Given the description of an element on the screen output the (x, y) to click on. 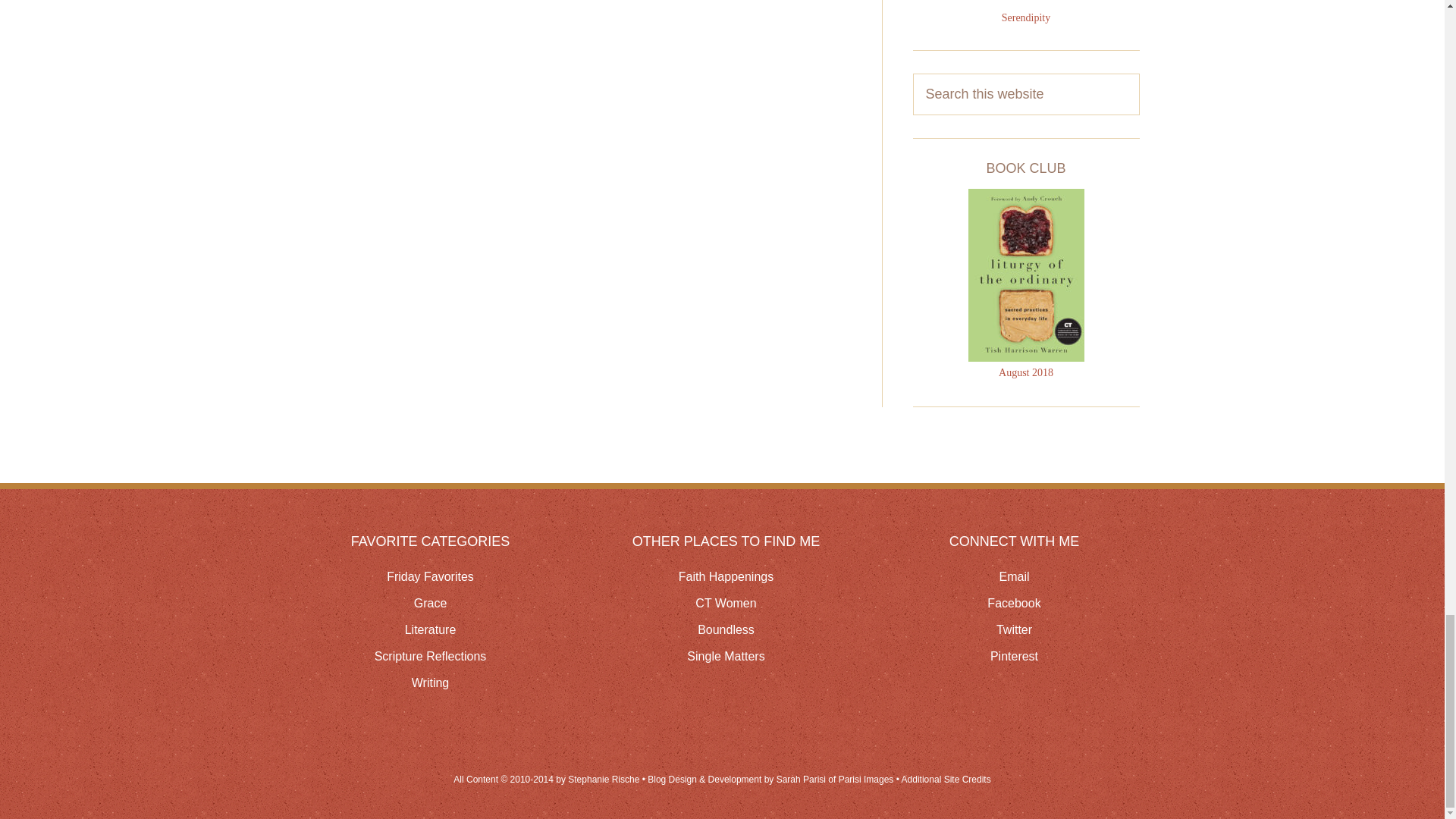
Serendipity (1026, 17)
